Given the description of an element on the screen output the (x, y) to click on. 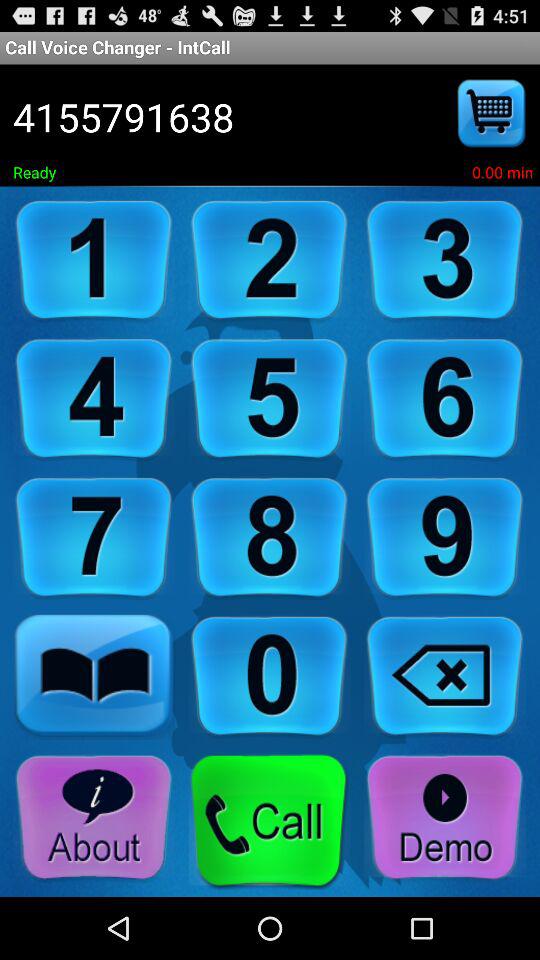
enter number 6 (445, 399)
